Given the description of an element on the screen output the (x, y) to click on. 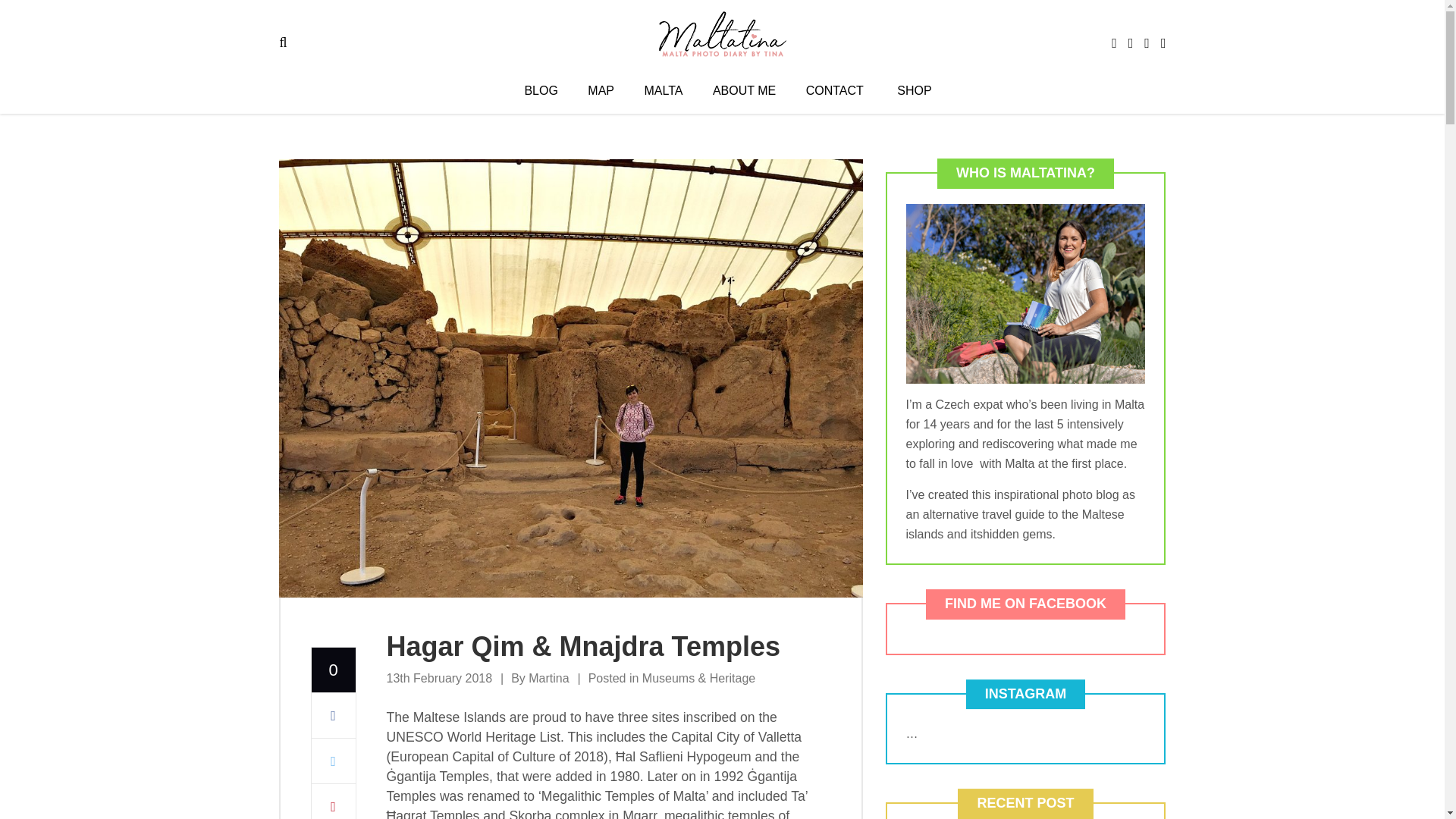
BLOG (540, 90)
Share Facebook (333, 715)
ABOUT ME (744, 90)
Maltatina - An alternative guide to the Maltese Islands. (722, 31)
Share twitter (333, 760)
MAP (601, 90)
0 (333, 669)
CONTACT (834, 90)
SHOP (913, 90)
Search (22, 22)
Martina (548, 677)
Share pinterest (333, 801)
MALTA (662, 90)
